Given the description of an element on the screen output the (x, y) to click on. 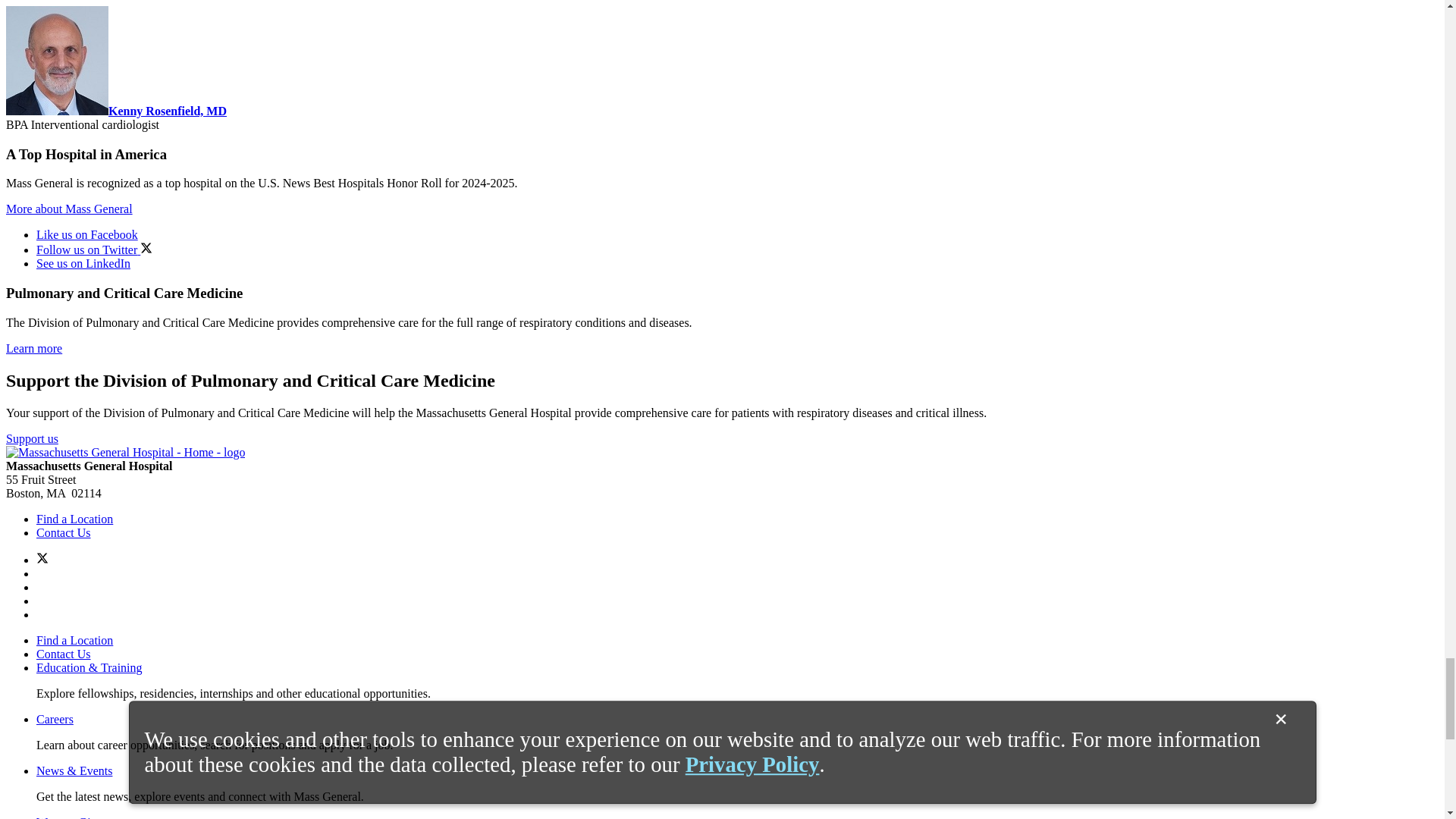
Massachusetts General Hospital - Home (124, 451)
